Given the description of an element on the screen output the (x, y) to click on. 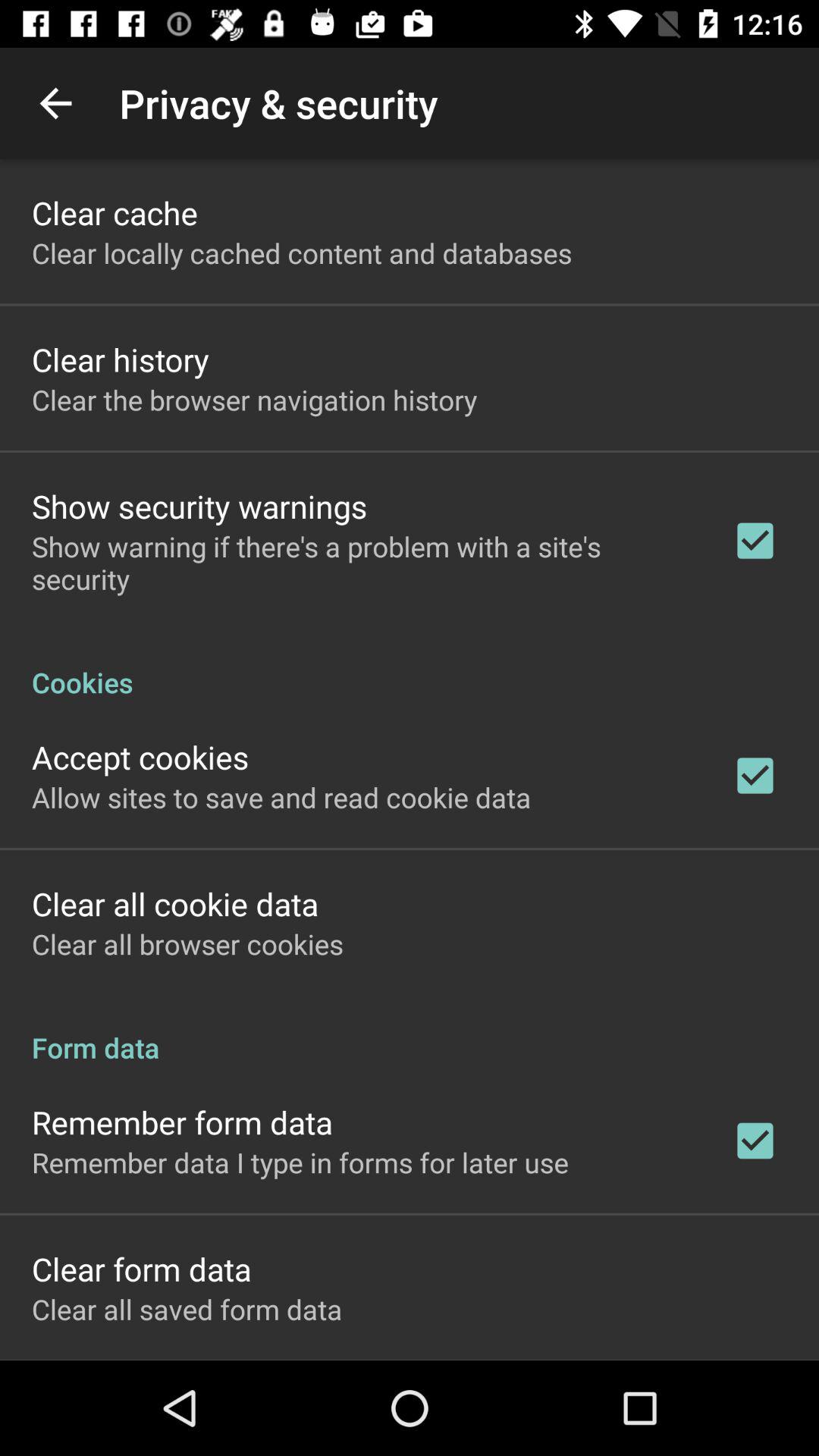
open app below the accept cookies item (281, 797)
